Given the description of an element on the screen output the (x, y) to click on. 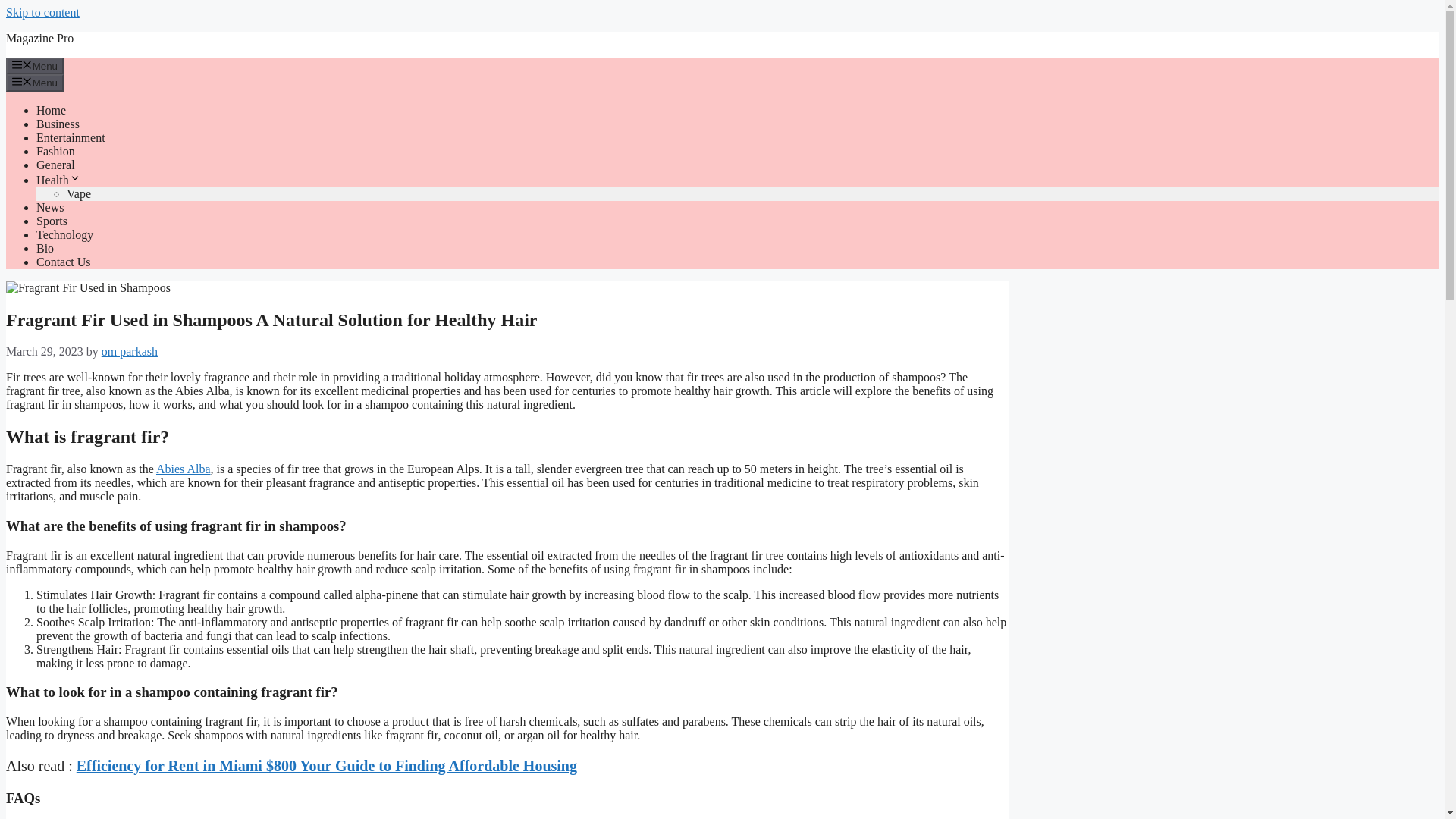
Fashion (55, 151)
Abies Alba (183, 468)
Skip to content (42, 11)
Menu (34, 82)
Technology (64, 234)
Menu (34, 65)
Vape (78, 193)
News (50, 206)
Skip to content (42, 11)
Sports (51, 220)
Entertainment (70, 137)
View all posts by om parkash (129, 350)
Home (50, 110)
Health (58, 179)
Business (58, 123)
